Given the description of an element on the screen output the (x, y) to click on. 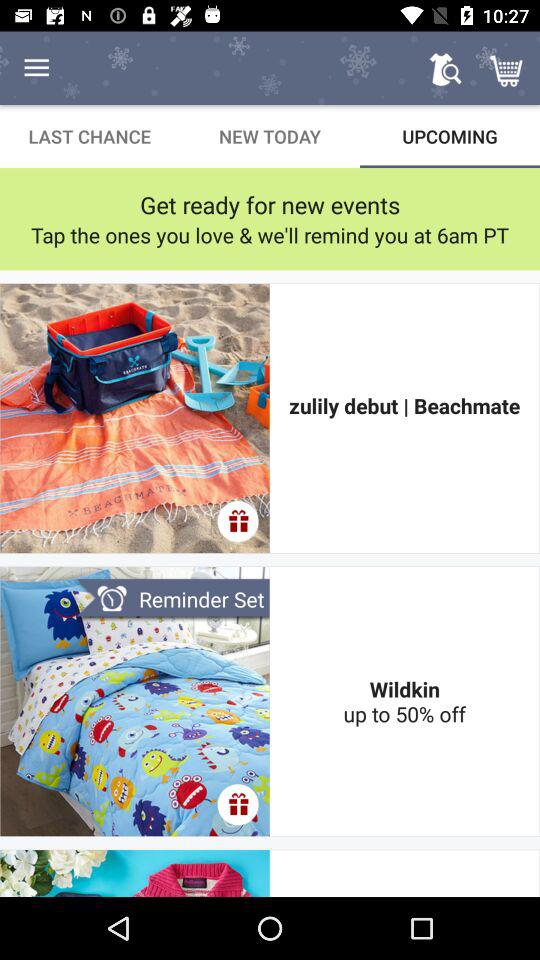
jump until the little lovely layered (404, 873)
